Given the description of an element on the screen output the (x, y) to click on. 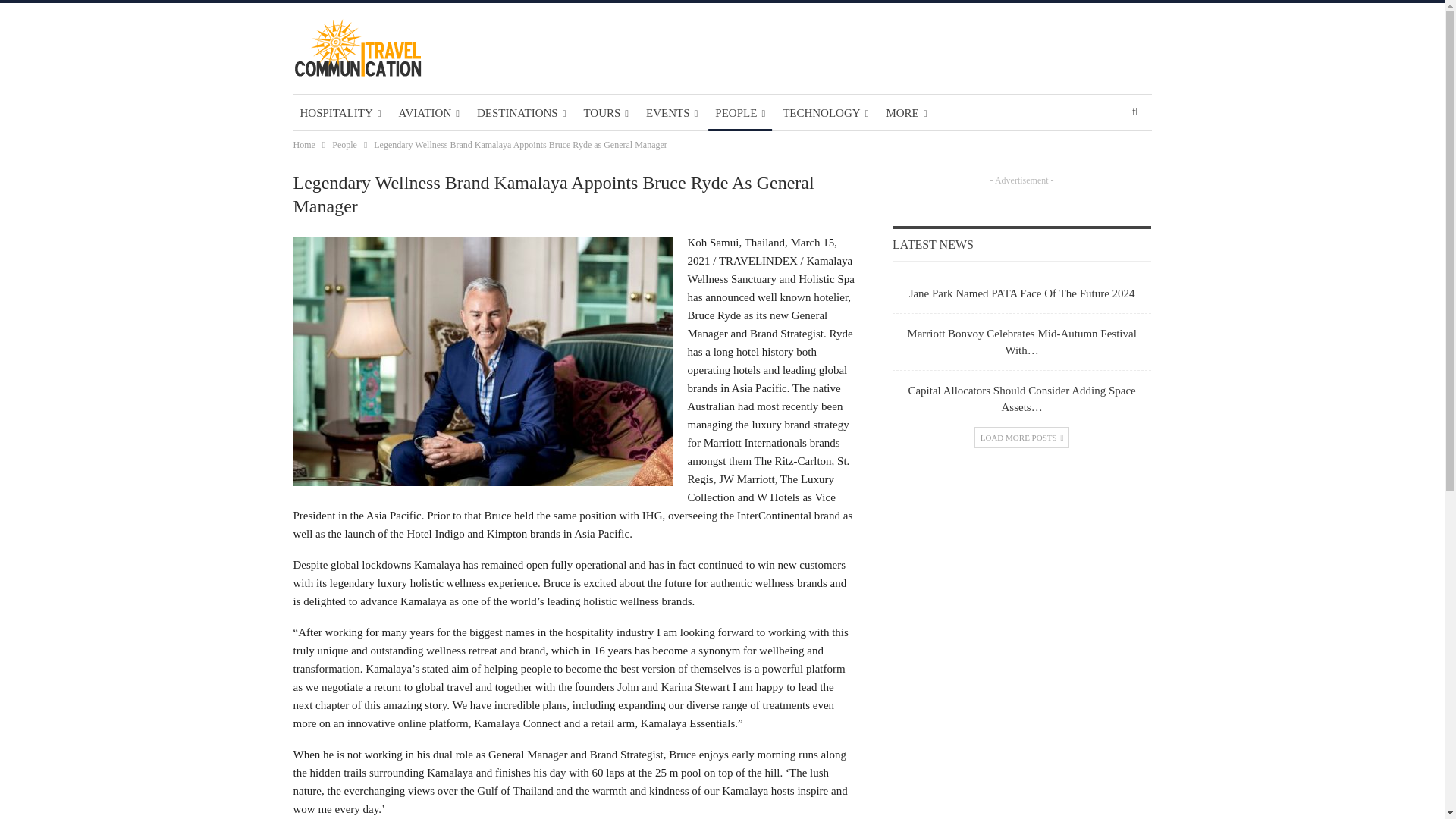
AVIATION (428, 113)
EVENTS (671, 113)
Load More Posts (1022, 436)
DESTINATIONS (521, 113)
HOSPITALITY (339, 113)
TOURS (605, 113)
